Given the description of an element on the screen output the (x, y) to click on. 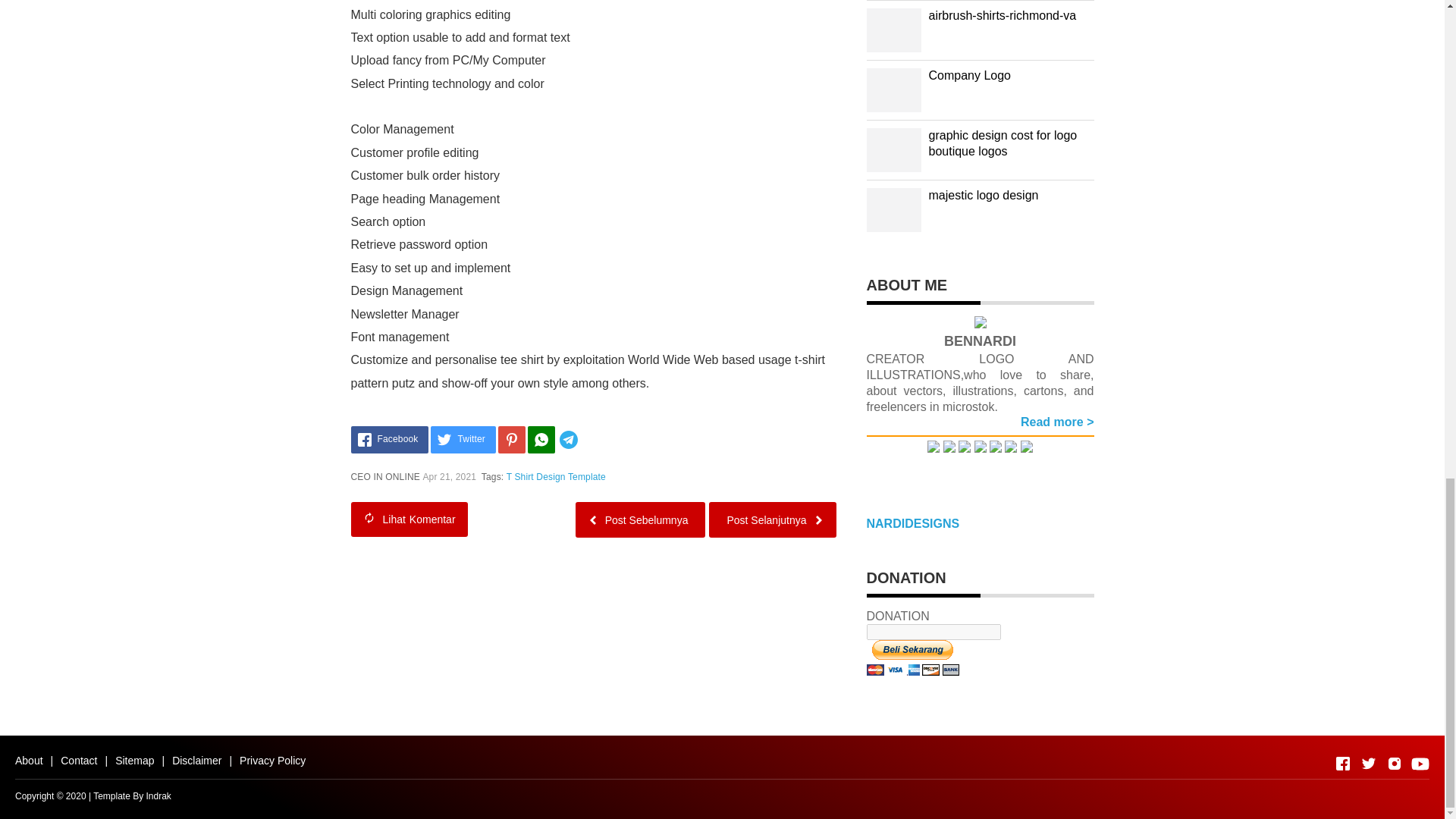
Older Post (640, 519)
Post Sebelumnya (640, 519)
Newer Post (772, 519)
Twitter (462, 439)
Share on Pinterest (511, 439)
Facebook (389, 439)
Telegram (590, 439)
Share to Telegram (590, 439)
Follow Me (949, 448)
Post Selanjutnya (772, 519)
Follow Me (964, 448)
T Shirt Design Template (555, 476)
T Shirt Design Template (555, 476)
